Given the description of an element on the screen output the (x, y) to click on. 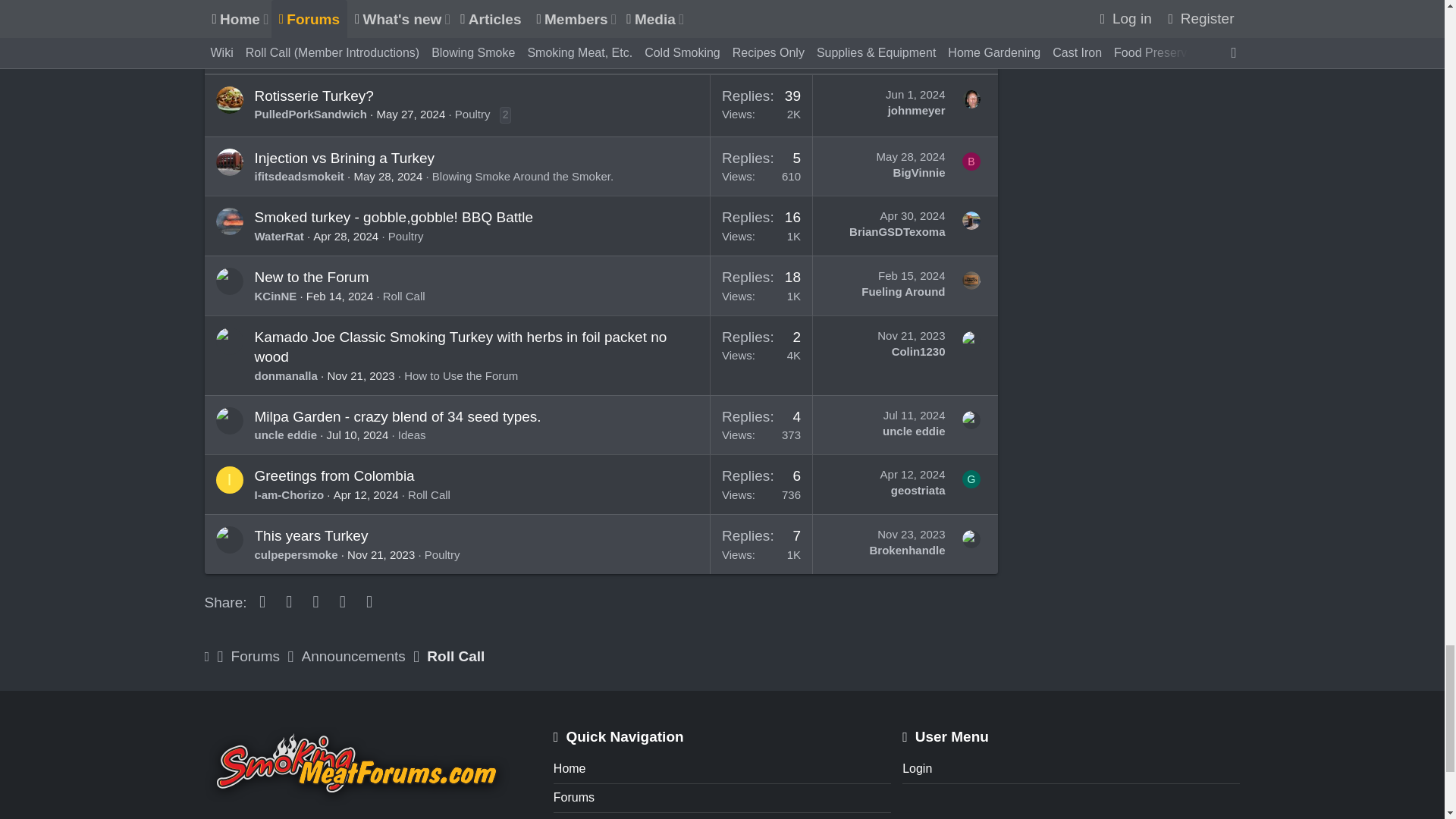
First message reaction score: 1 (761, 105)
May 27, 2024 at 10:42 AM (410, 113)
